Given the description of an element on the screen output the (x, y) to click on. 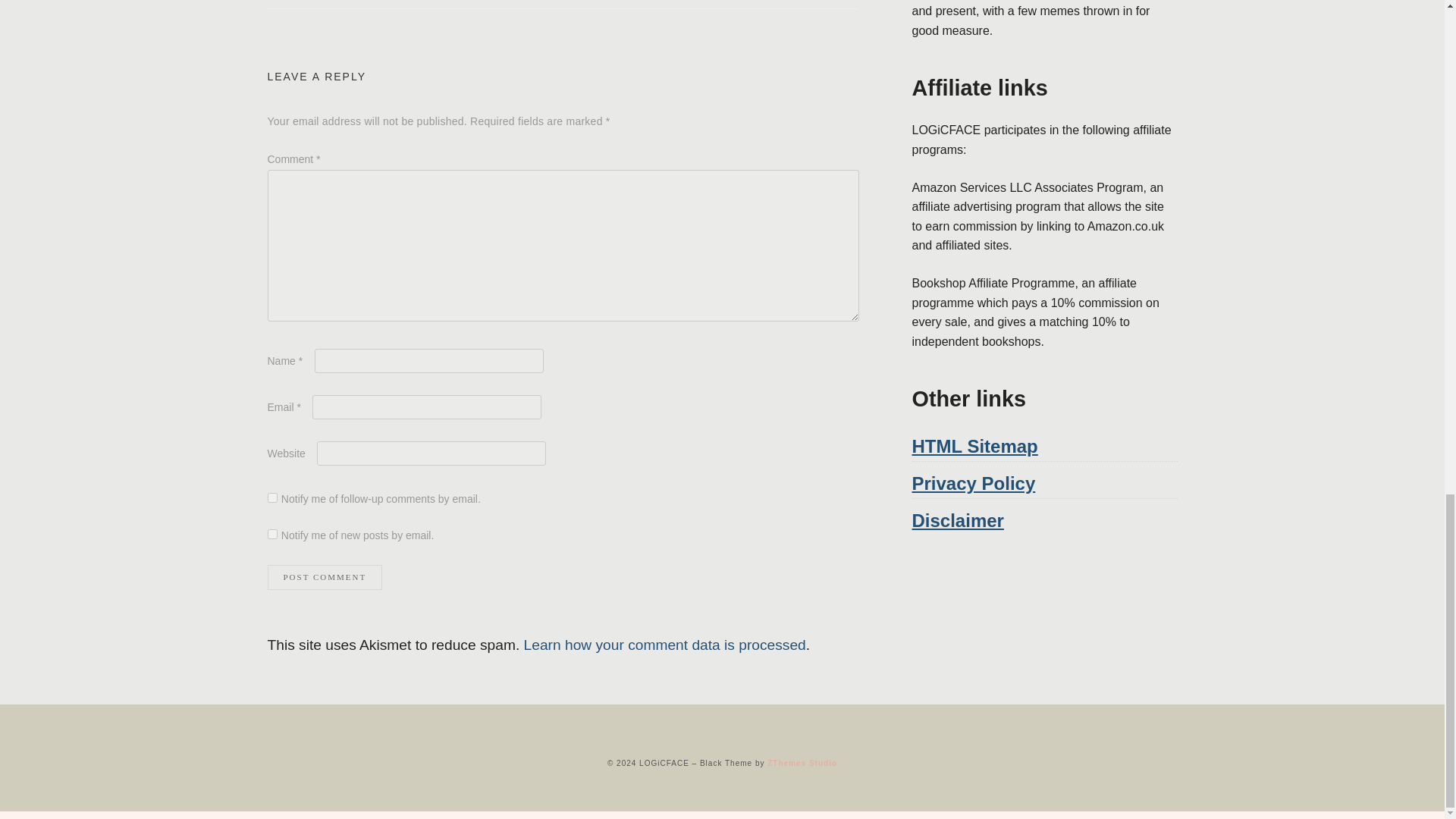
Post Comment (323, 577)
Learn how your comment data is processed (665, 644)
Post Comment (323, 577)
subscribe (271, 533)
subscribe (271, 497)
